Given the description of an element on the screen output the (x, y) to click on. 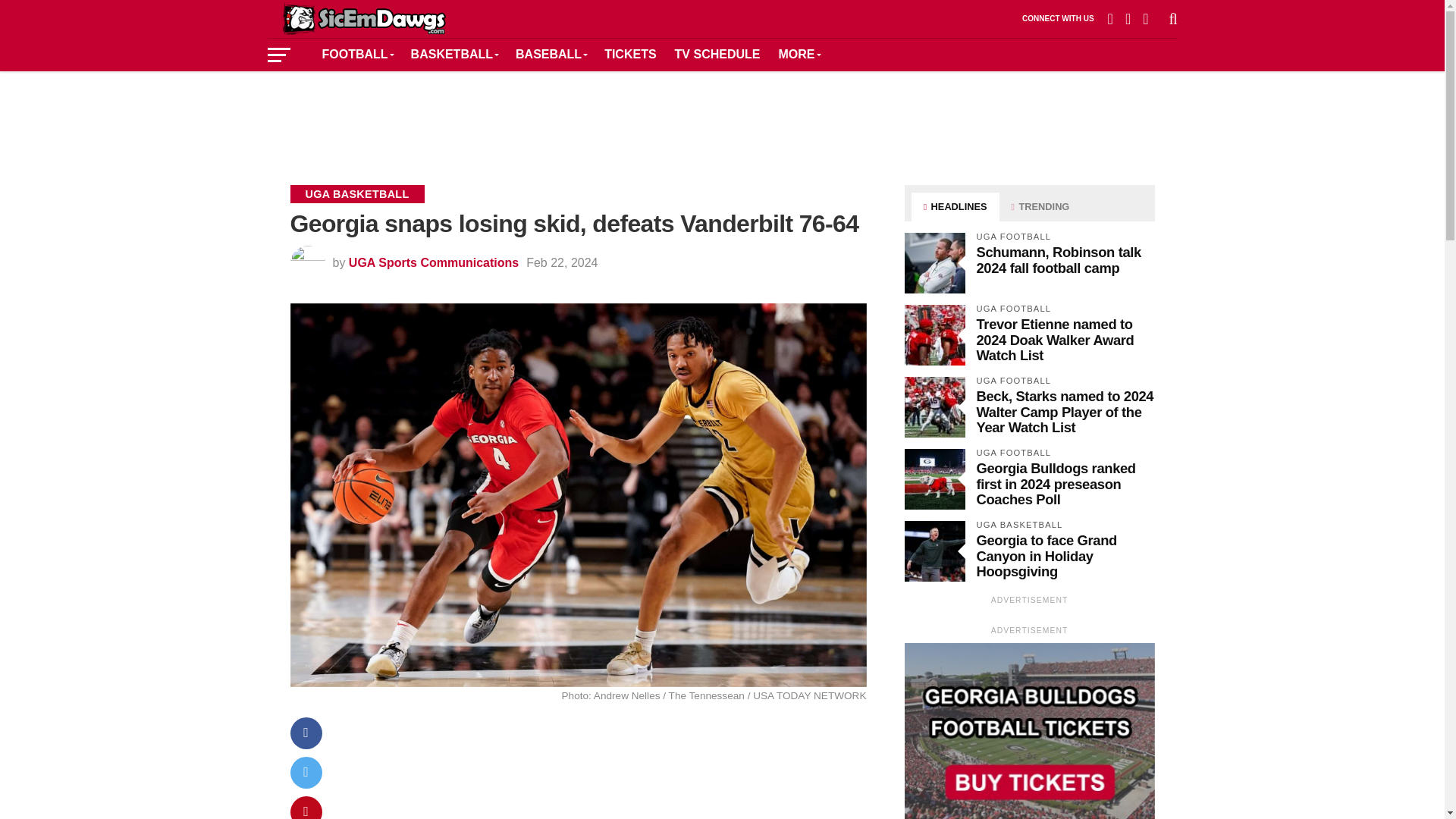
Advertisement (721, 116)
Posts by UGA Sports Communications (433, 262)
Advertisement (604, 775)
